Given the description of an element on the screen output the (x, y) to click on. 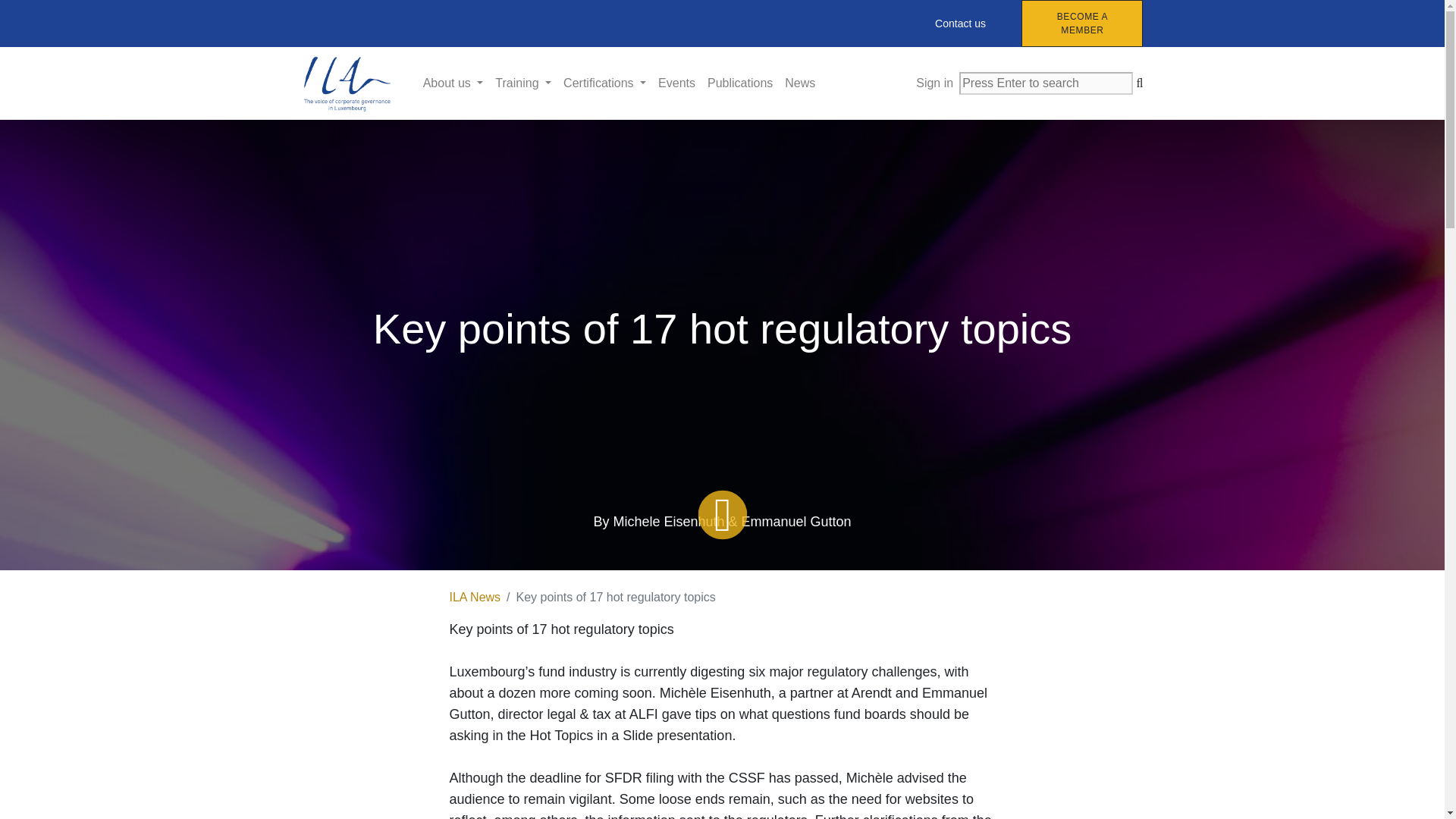
About us (452, 82)
Contact us (959, 23)
BECOME A MEMBER (1082, 23)
ILA - Institut Luxembourgeois des Administrateurs (347, 83)
Training (523, 82)
Certifications (604, 82)
